Given the description of an element on the screen output the (x, y) to click on. 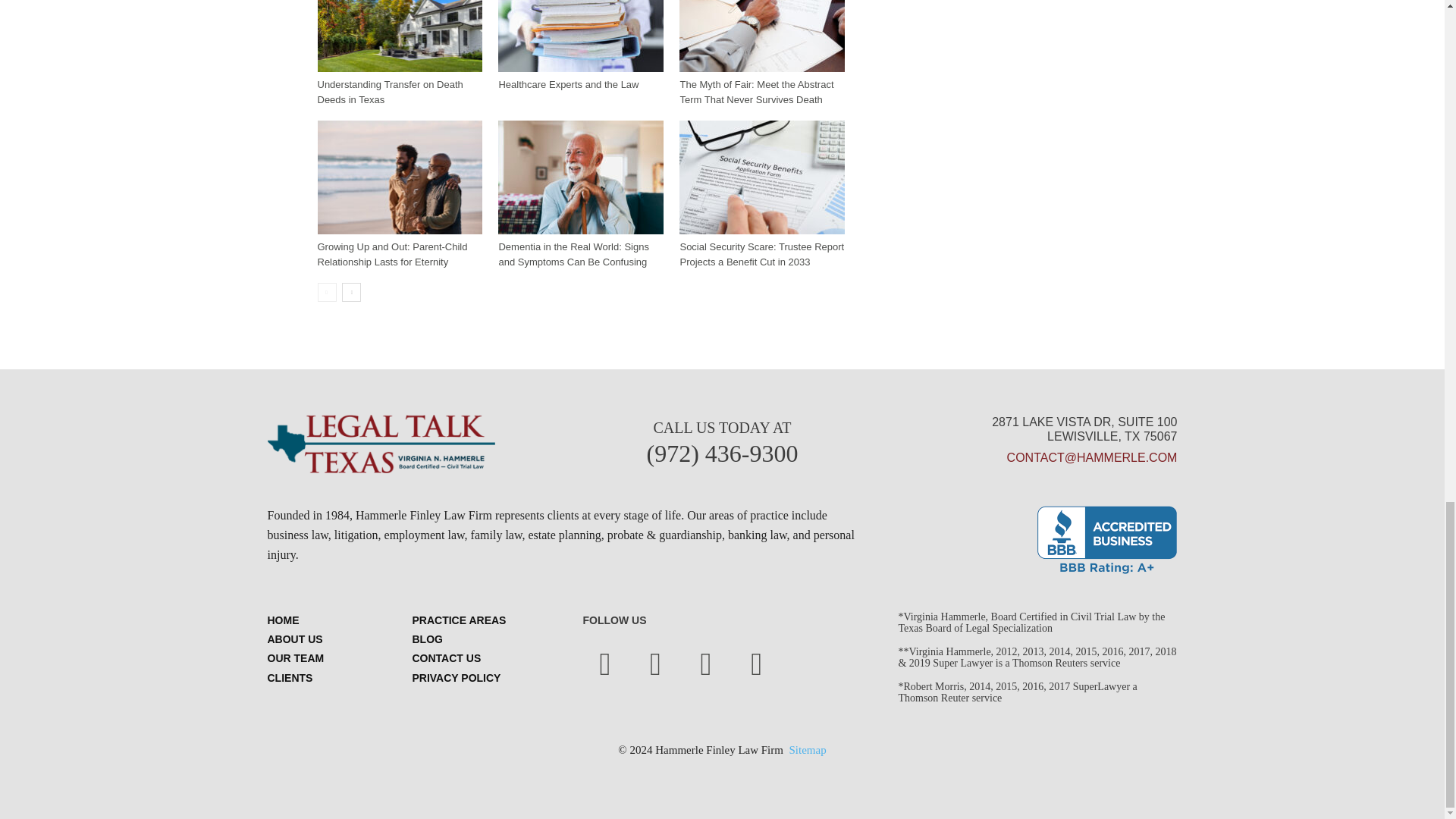
Healthcare Experts and the Law (568, 84)
Healthcare Experts and the Law (580, 36)
Understanding Transfer on Death Deeds in Texas (399, 36)
Understanding Transfer on Death Deeds in Texas (390, 91)
